Given the description of an element on the screen output the (x, y) to click on. 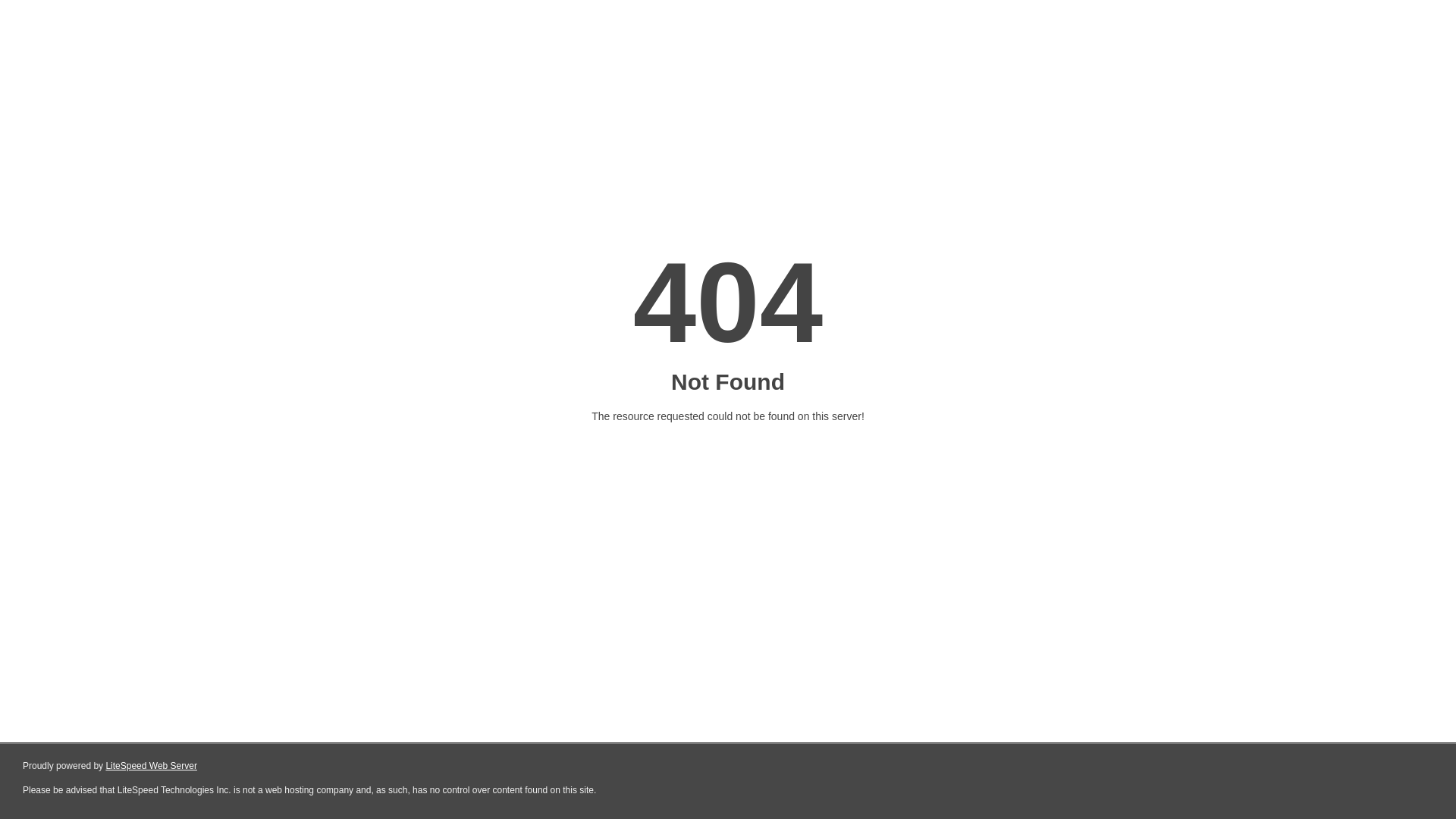
LiteSpeed Web Server Element type: text (151, 765)
